Given the description of an element on the screen output the (x, y) to click on. 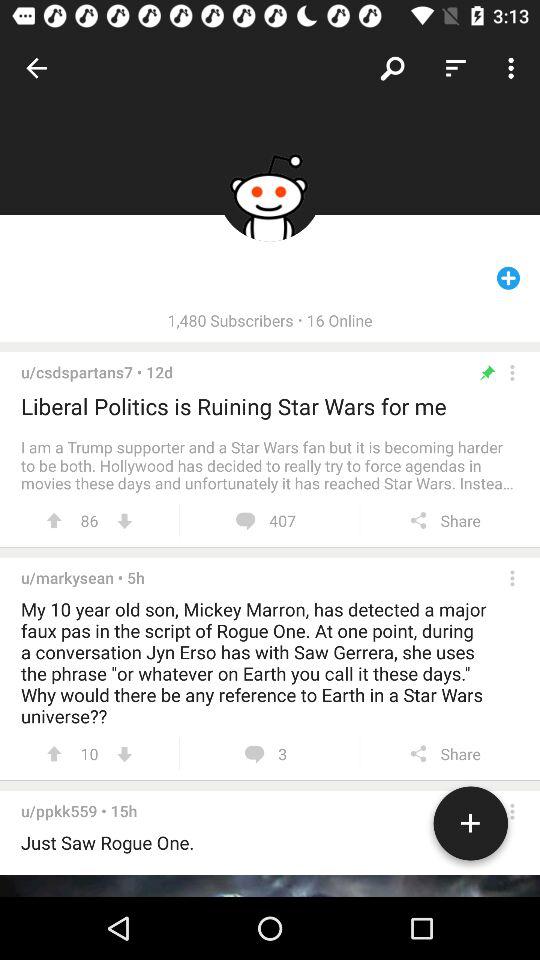
tap the icon below share icon (470, 827)
